Given the description of an element on the screen output the (x, y) to click on. 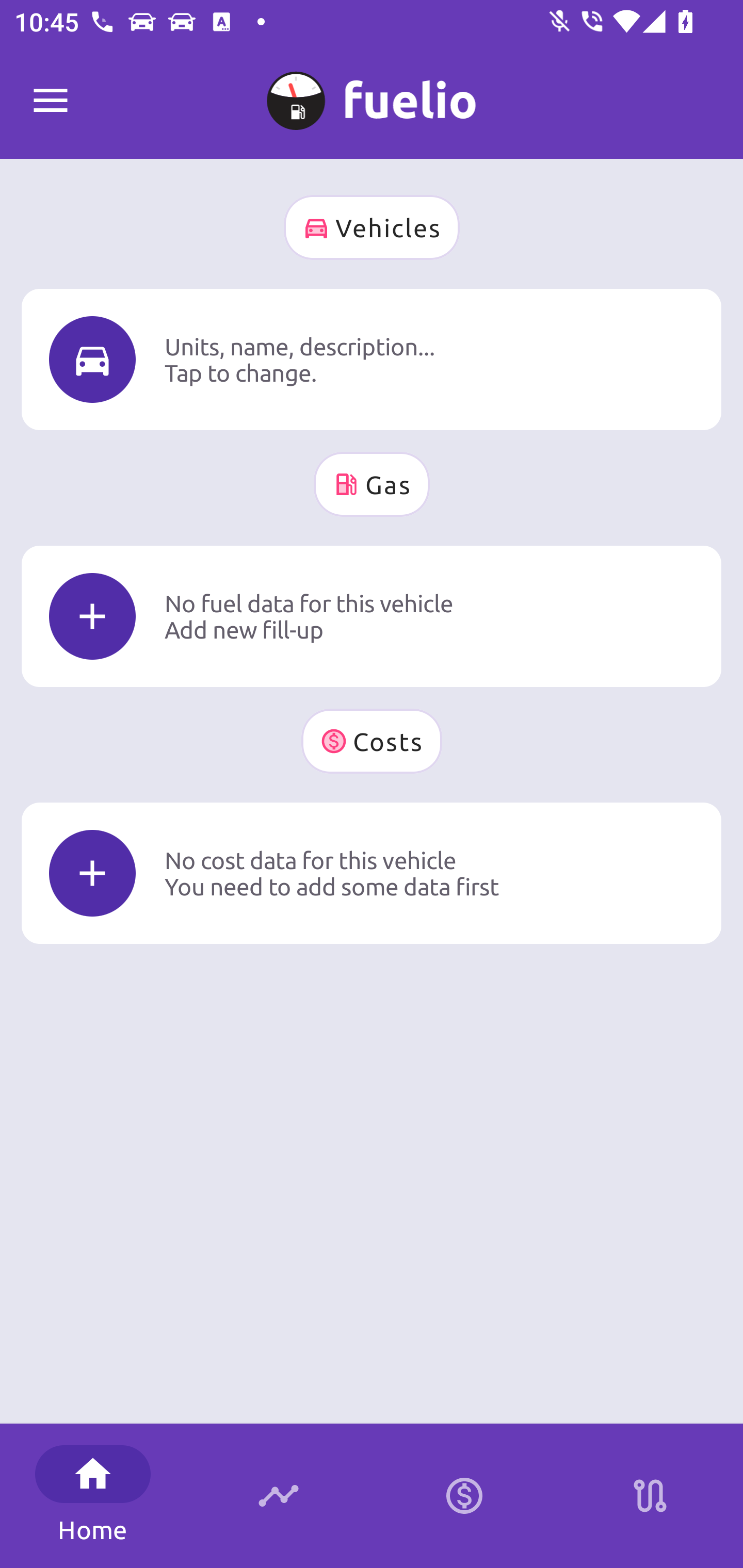
M My Car 0 km (371, 92)
Fuelio (50, 101)
Vehicles (371, 227)
Icon Units, name, description...
Tap to change. (371, 358)
Icon (92, 359)
Gas (371, 484)
Icon No fuel data for this vehicle
Add new fill-up (371, 615)
Icon (92, 616)
Costs (371, 740)
Icon (92, 873)
Timeline (278, 1495)
Calculator (464, 1495)
Stations on route (650, 1495)
